Given the description of an element on the screen output the (x, y) to click on. 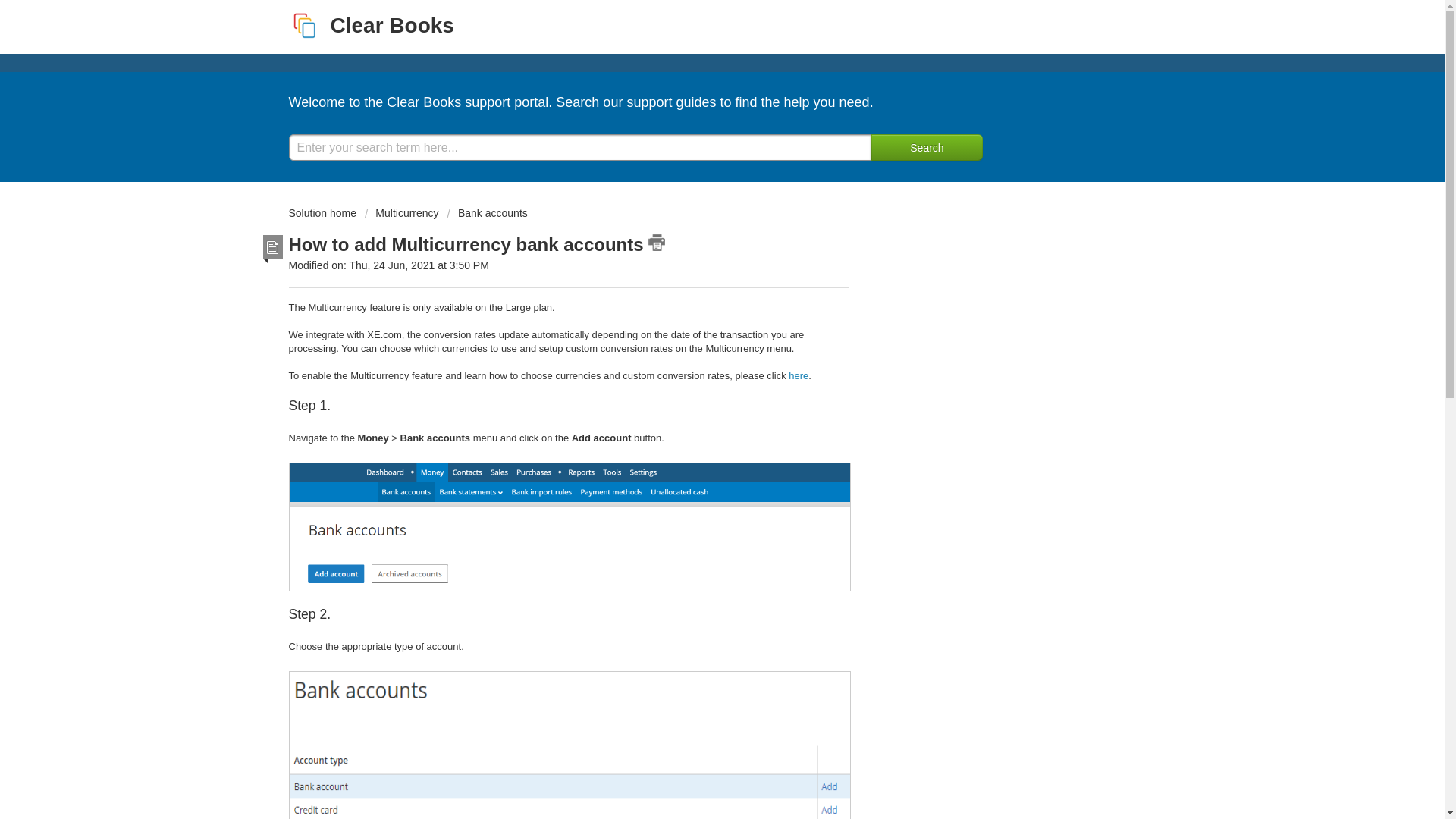
Print this Article (656, 242)
Bank accounts (486, 213)
Search (925, 147)
here (798, 375)
Multicurrency (402, 213)
Solution home (323, 213)
